Given the description of an element on the screen output the (x, y) to click on. 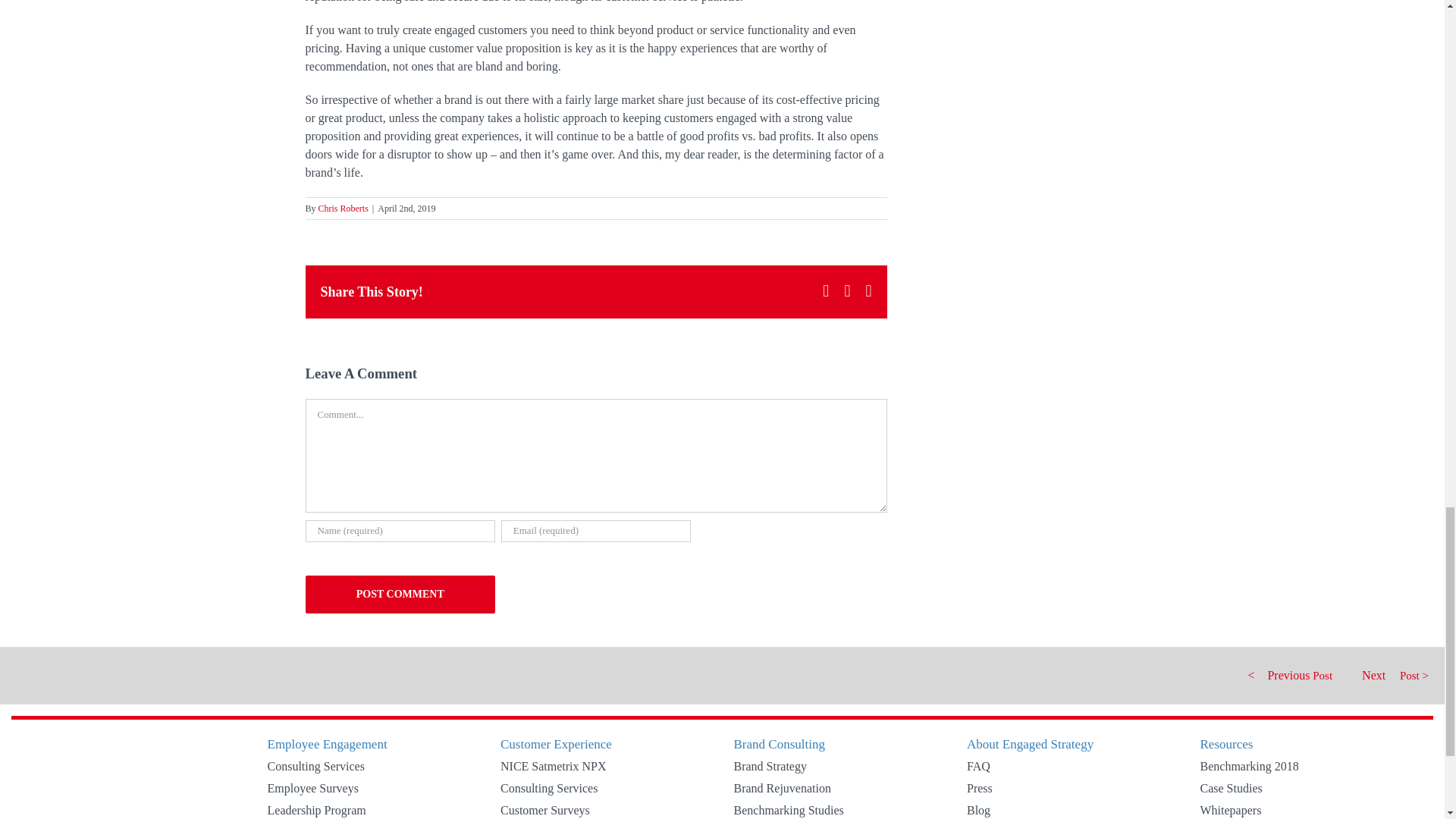
Posts by Chris Roberts (343, 208)
Post Comment (399, 594)
